Given the description of an element on the screen output the (x, y) to click on. 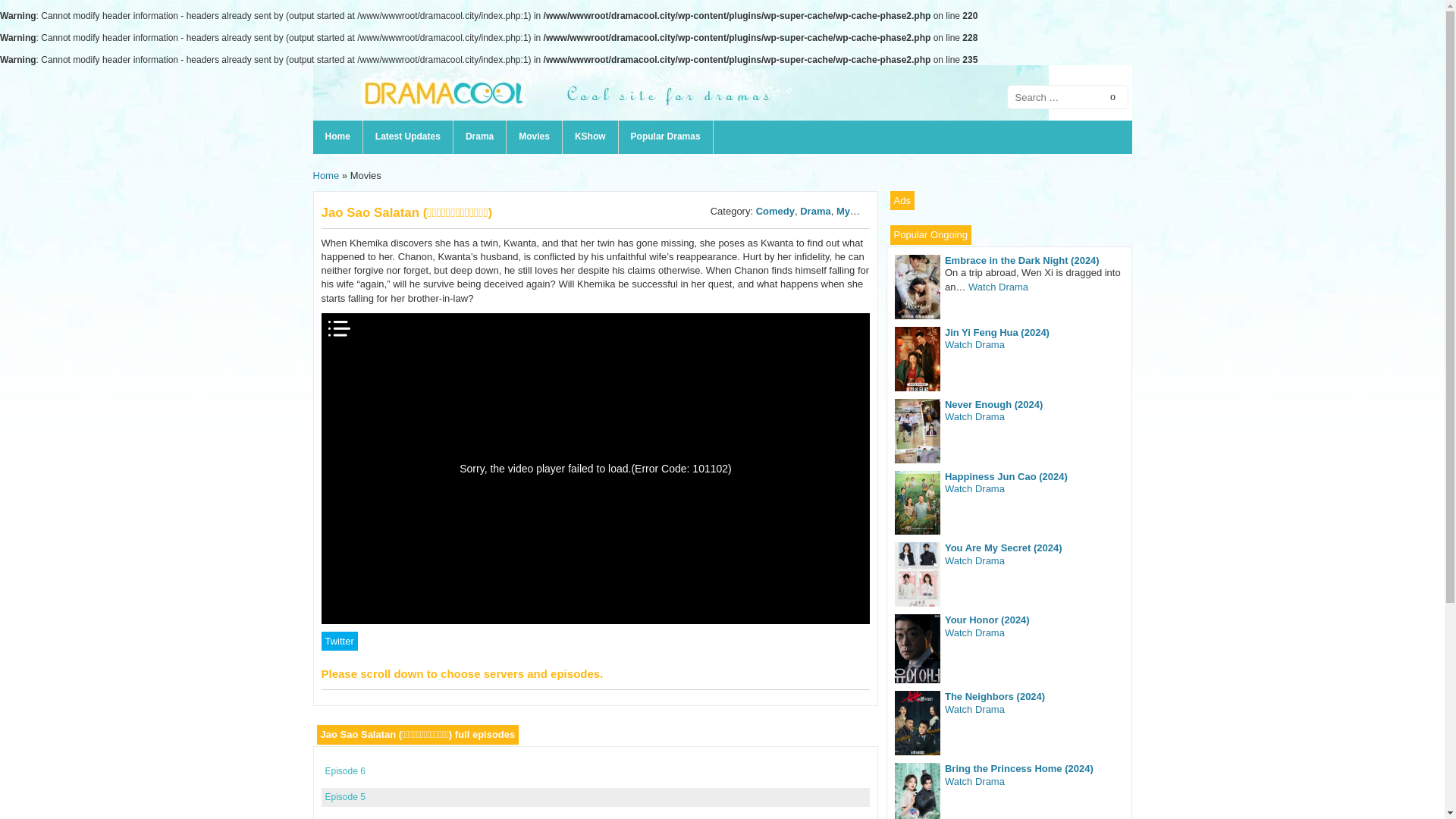
Episode 5 (344, 796)
Episode 6 (344, 770)
Home (326, 174)
Episode 5 (344, 796)
Episode 4 (344, 818)
Episode 6 (344, 770)
Movies (534, 136)
Comedy (774, 211)
Popular Dramas (665, 136)
Home (337, 136)
